Given the description of an element on the screen output the (x, y) to click on. 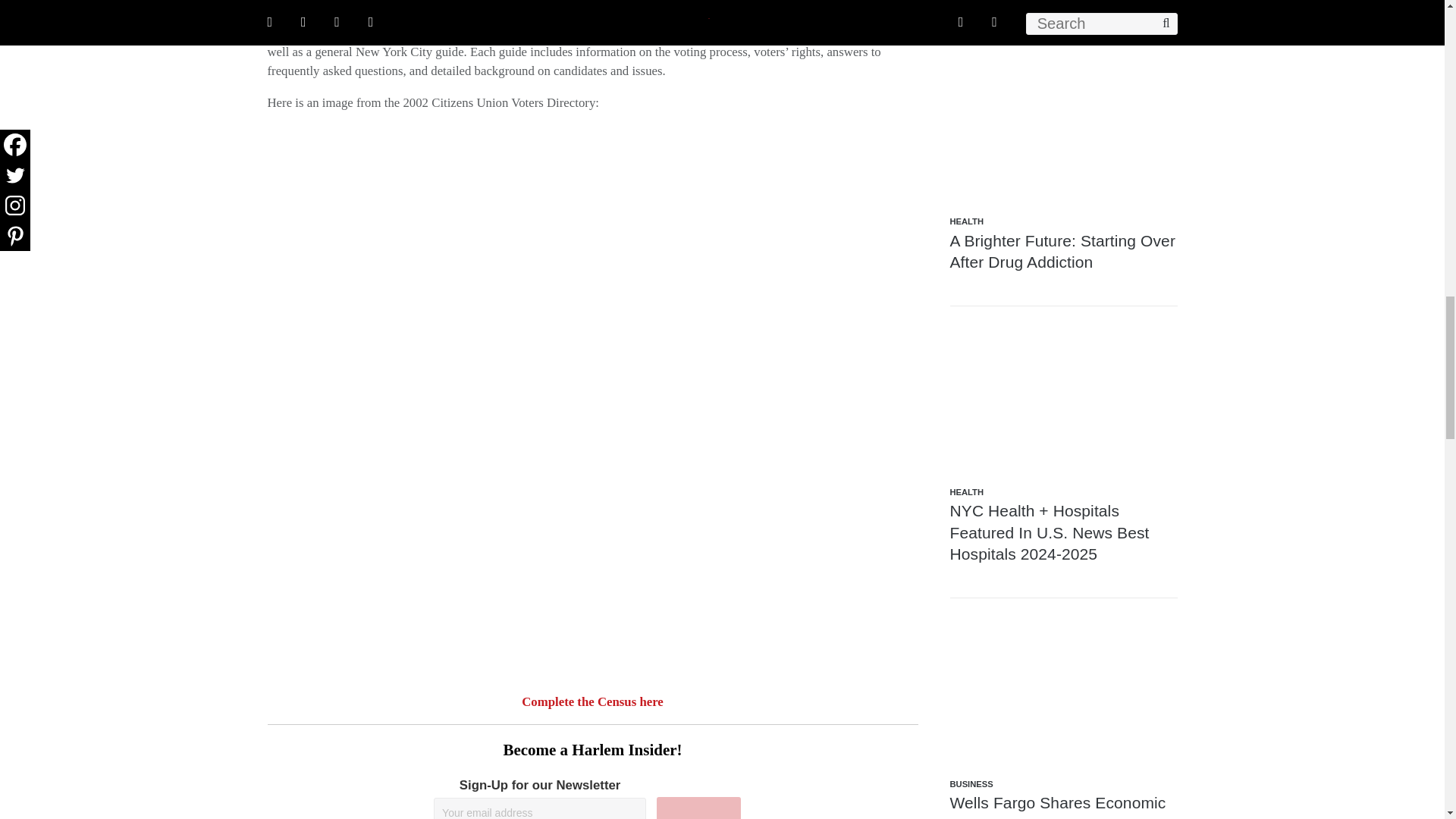
Sign up (698, 807)
Sign up (698, 807)
Complete the Census here (592, 701)
